Given the description of an element on the screen output the (x, y) to click on. 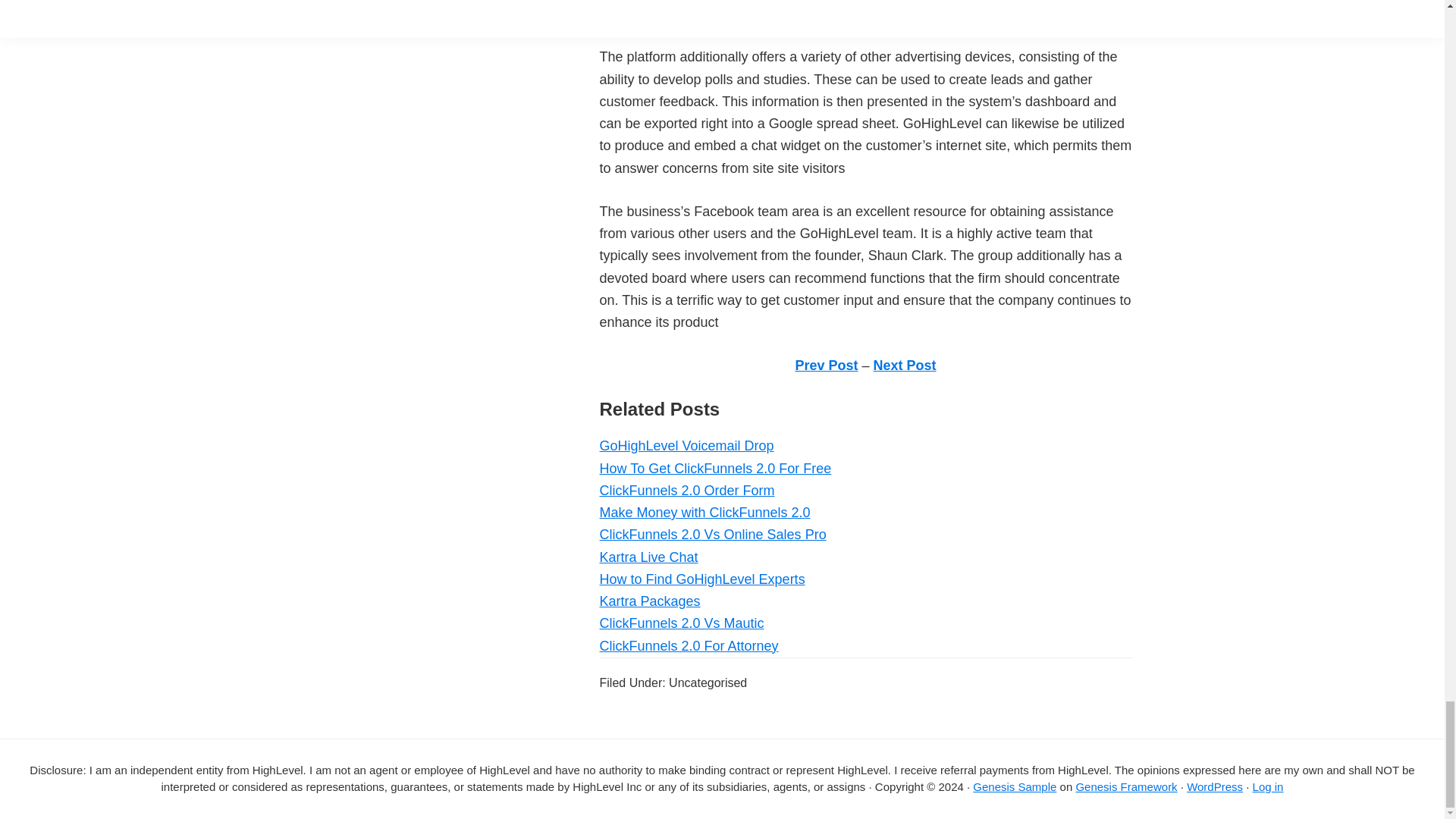
ClickFunnels 2.0 Order Form (686, 490)
ClickFunnels 2.0 For Attorney (687, 645)
Genesis Sample (1014, 786)
How to Find GoHighLevel Experts (701, 579)
WordPress (1214, 786)
Log in (1268, 786)
How To Get ClickFunnels 2.0 For Free (714, 468)
ClickFunnels 2.0 Vs Online Sales Pro (711, 534)
ClickFunnels 2.0 Vs Mautic (680, 622)
Genesis Framework (1125, 786)
How To Get ClickFunnels 2.0 For Free (714, 468)
ClickFunnels 2.0 Vs Online Sales Pro (711, 534)
Make Money with ClickFunnels 2.0 (703, 512)
ClickFunnels 2.0 For Attorney (687, 645)
GoHighLevel Voicemail Drop (685, 445)
